Given the description of an element on the screen output the (x, y) to click on. 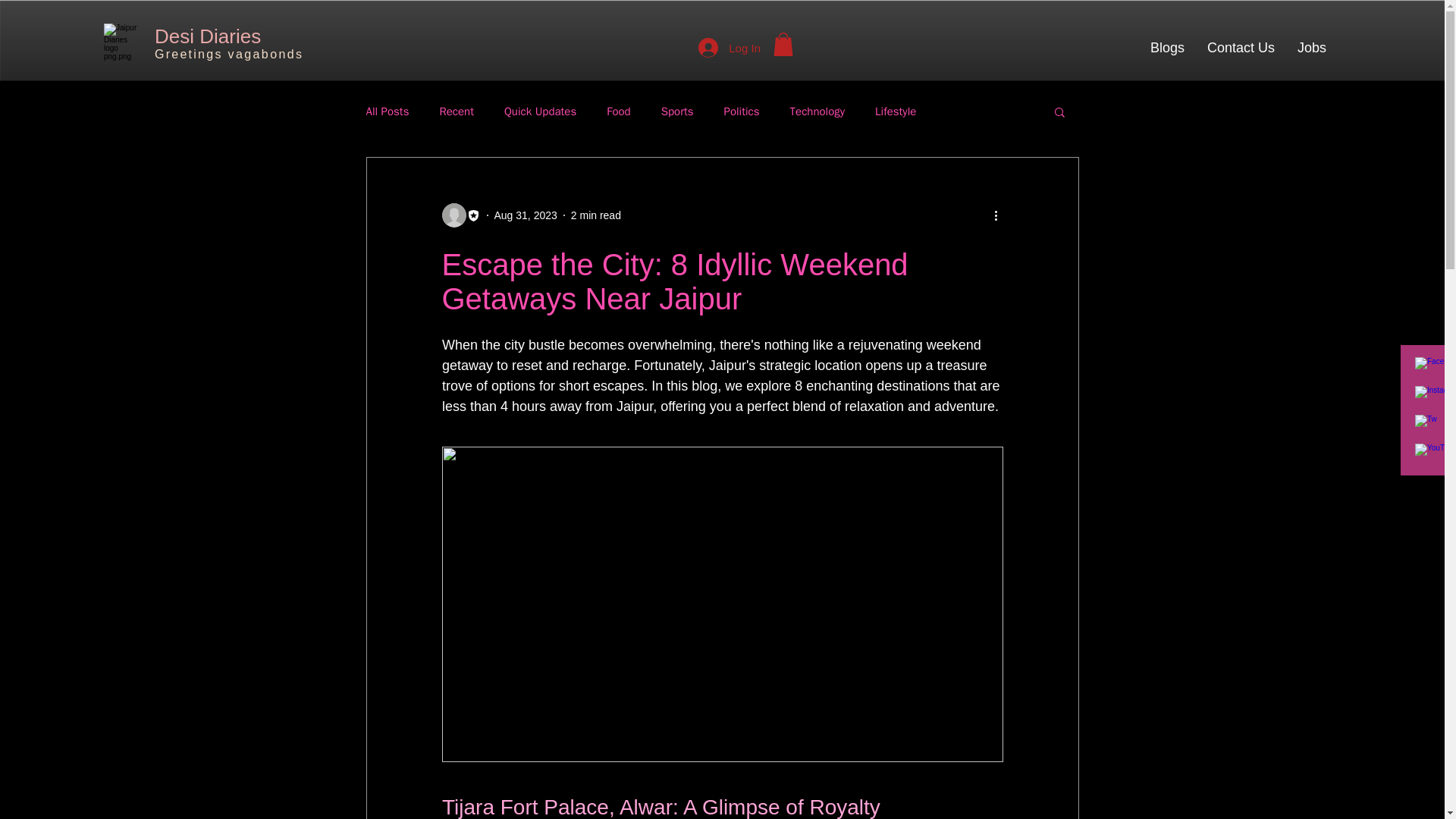
Aug 31, 2023 (526, 215)
Log In (729, 47)
Desi Diaries (207, 36)
Quick Updates (539, 111)
Jobs (1311, 47)
Contact Us (1240, 47)
Greetings vagabonds (228, 53)
Recent (456, 111)
Food (618, 111)
Sports (677, 111)
